Given the description of an element on the screen output the (x, y) to click on. 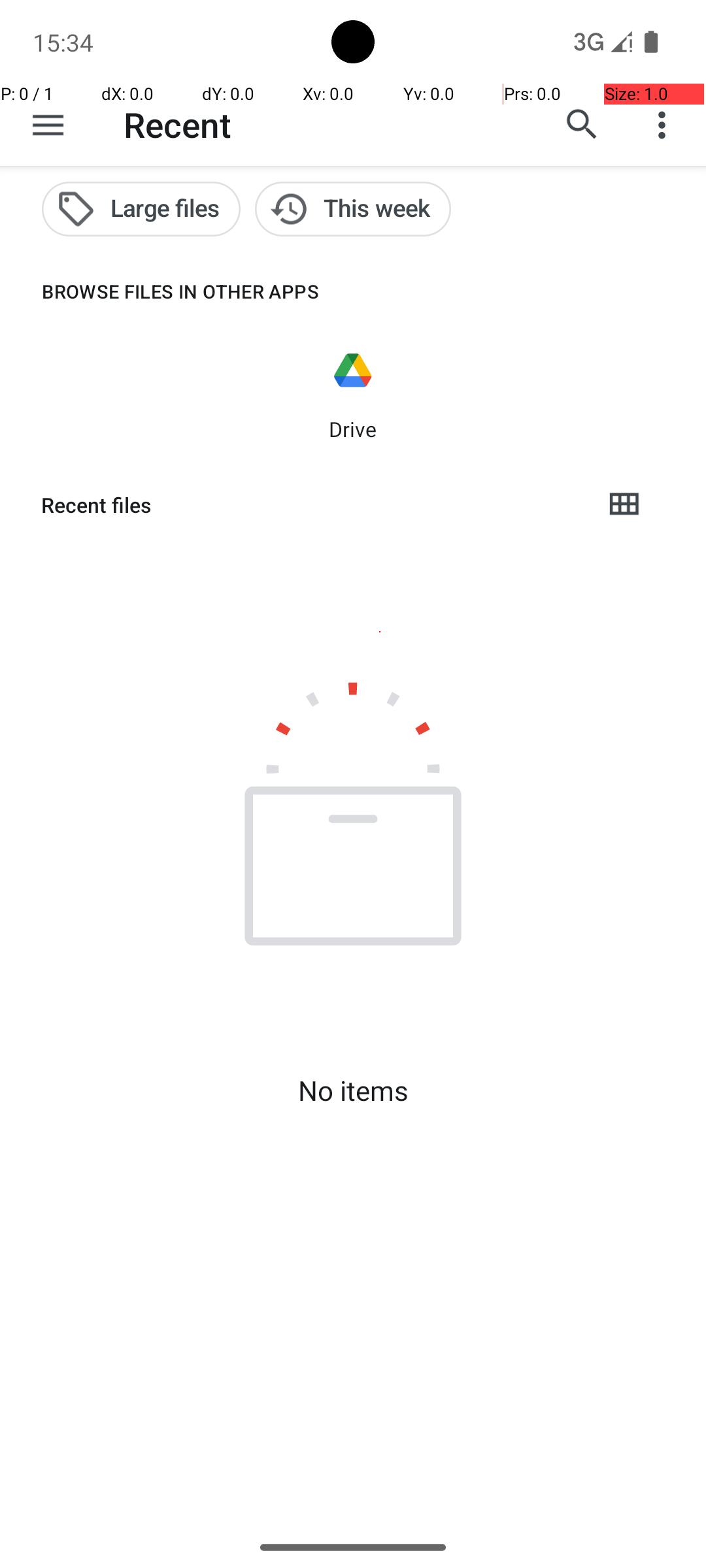
BROWSE FILES IN OTHER APPS Element type: android.widget.TextView (159, 291)
Recent files Element type: android.widget.TextView (311, 504)
Drive Element type: android.widget.TextView (352, 428)
